Given the description of an element on the screen output the (x, y) to click on. 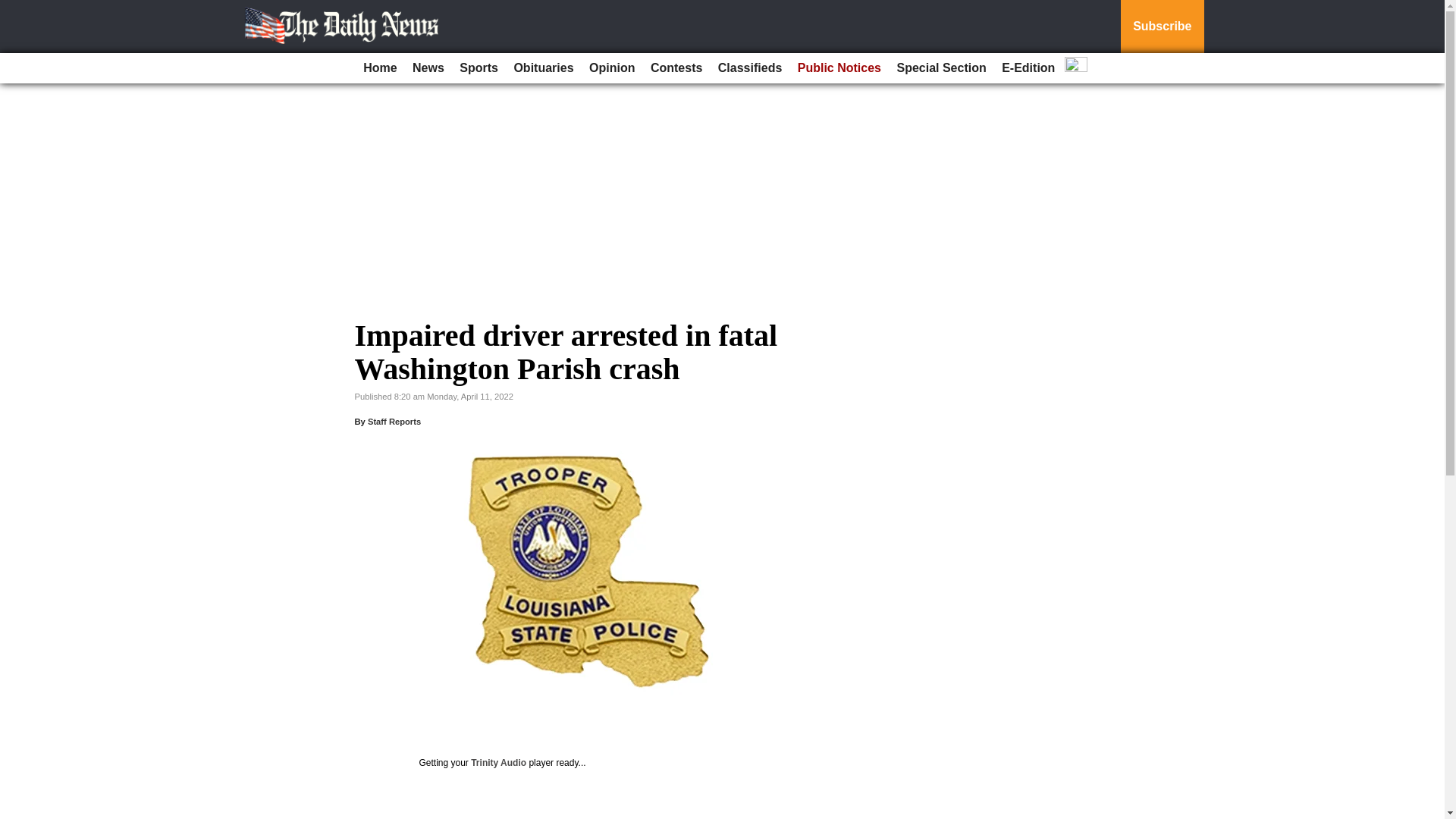
Go (13, 9)
News (427, 68)
Subscribe (1162, 26)
Sports (477, 68)
Trinity Audio (497, 762)
Staff Reports (394, 420)
Opinion (611, 68)
Home (379, 68)
Contests (676, 68)
E-Edition (1028, 68)
